Given the description of an element on the screen output the (x, y) to click on. 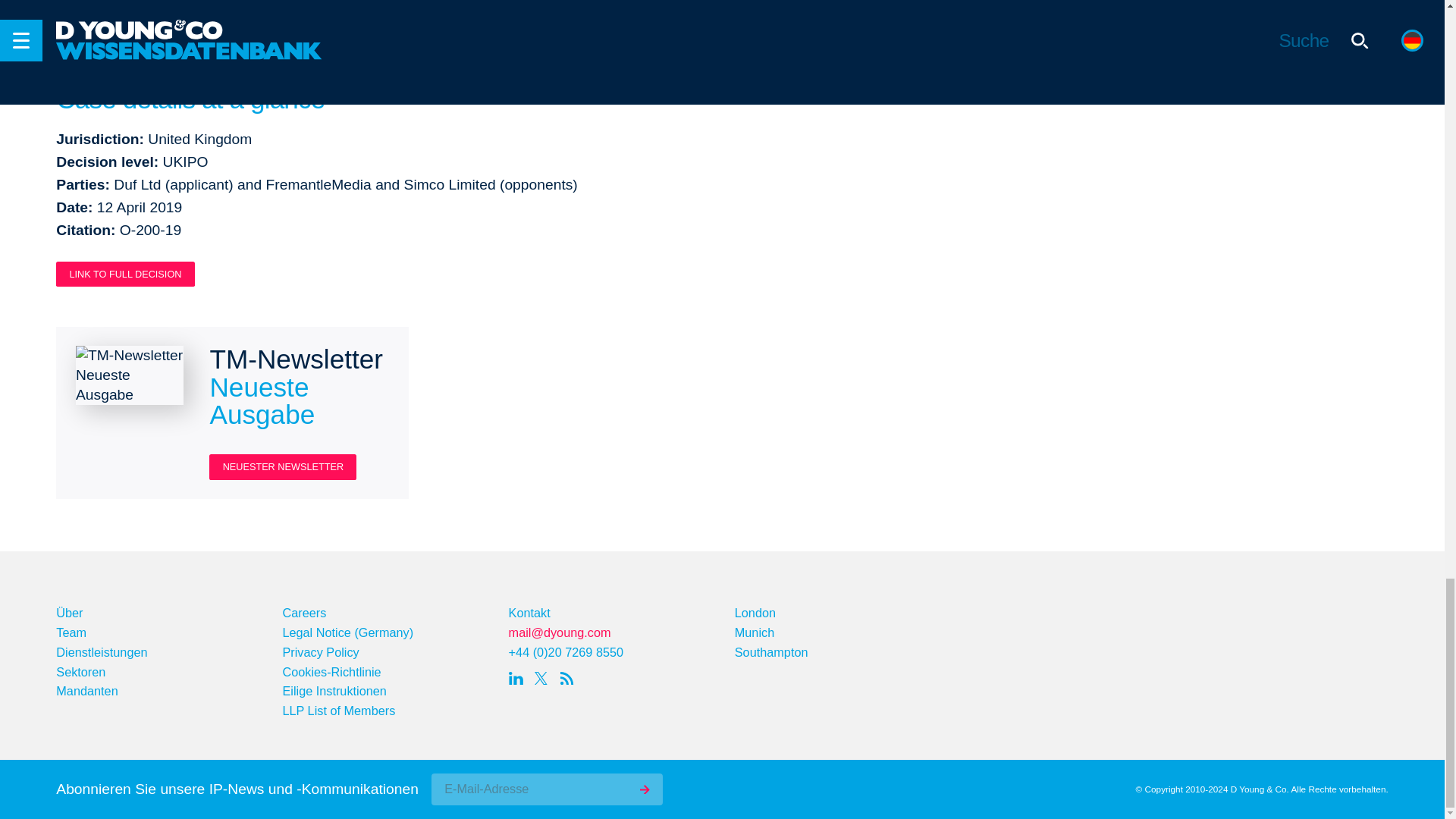
Link to D Young's RSS feed (570, 678)
Link to D Young's Twitter profile (544, 678)
Link to D Young's LinkedIn profile (518, 678)
